Given the description of an element on the screen output the (x, y) to click on. 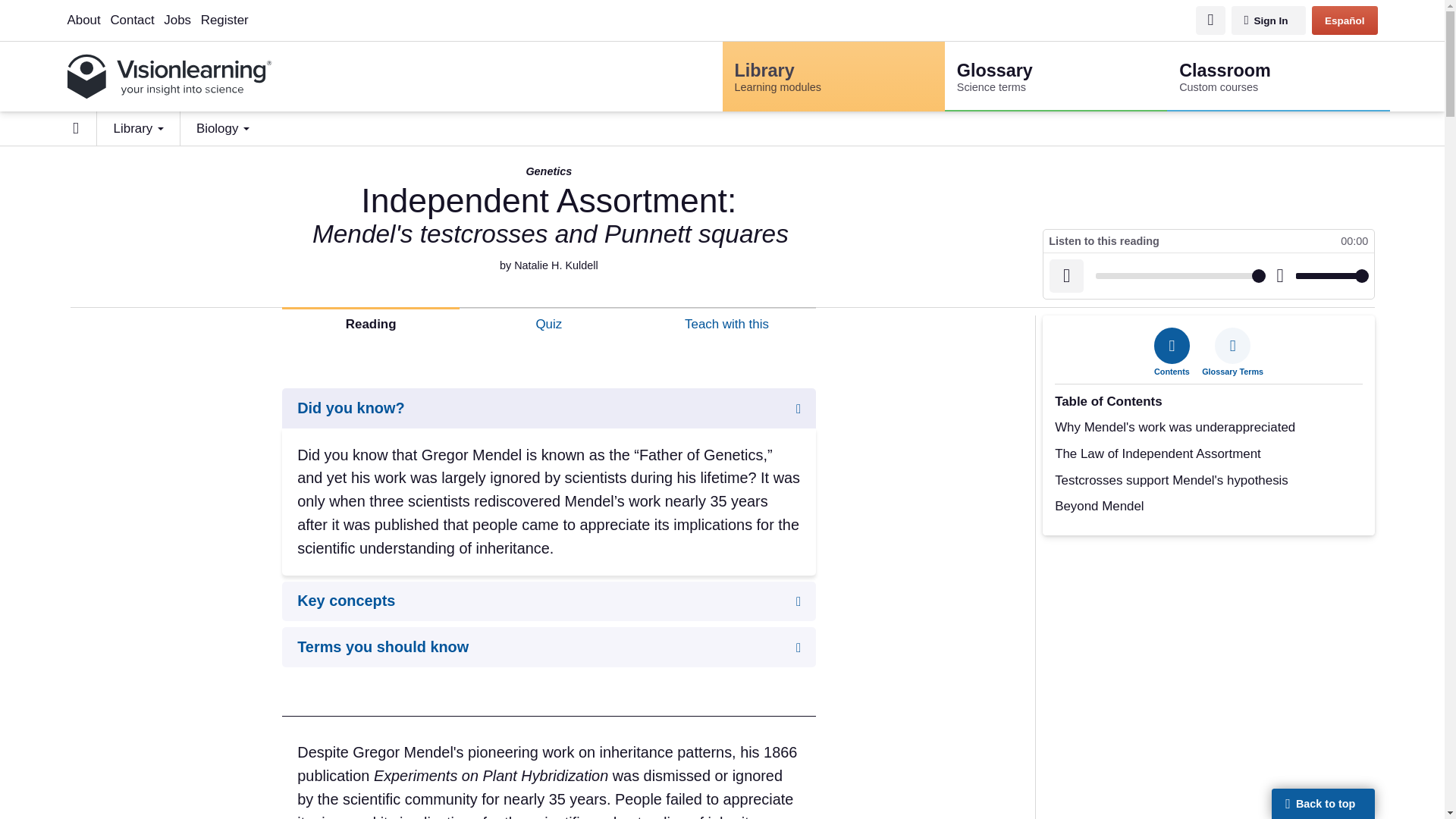
Advertisement (1208, 656)
Jump to main content (1055, 76)
Jobs (738, 9)
Sign In (176, 20)
Register (1268, 20)
Contact (1278, 76)
About (224, 20)
